Given the description of an element on the screen output the (x, y) to click on. 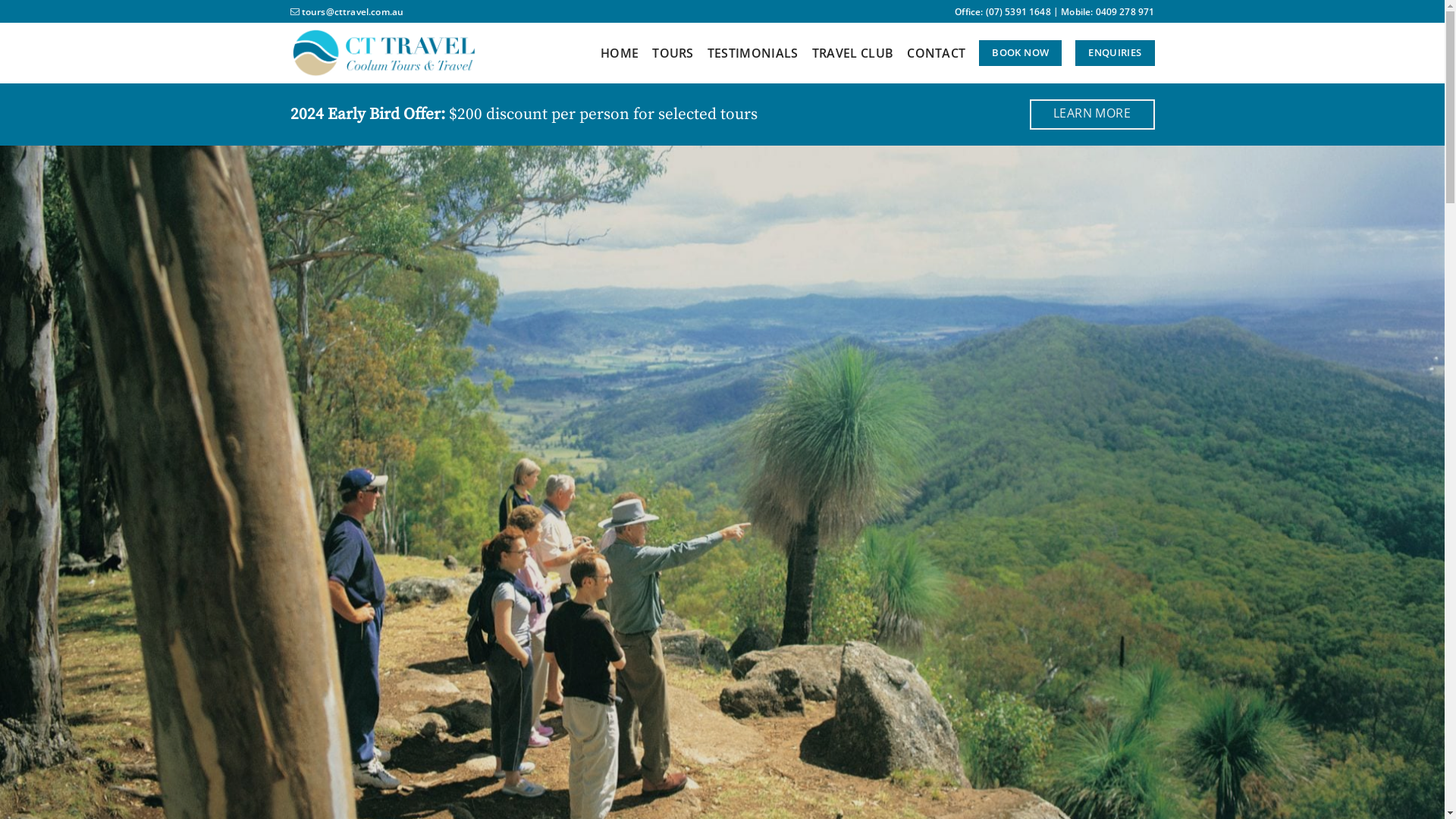
Mobile: 0409 278 971 Element type: text (1107, 11)
TOURS Element type: text (672, 52)
 tours@cttravel.com.au Element type: text (346, 11)
LEARN MORE Element type: text (1091, 114)
TRAVEL CLUB Element type: text (853, 52)
Office: (07) 5391 1648 Element type: text (1002, 11)
BOOK NOW Element type: text (1020, 52)
HOME Element type: text (619, 52)
ENQUIRIES Element type: text (1114, 52)
Coolum Tours & Travel Element type: hover (384, 52)
TESTIMONIALS Element type: text (752, 52)
CONTACT Element type: text (935, 52)
